Given the description of an element on the screen output the (x, y) to click on. 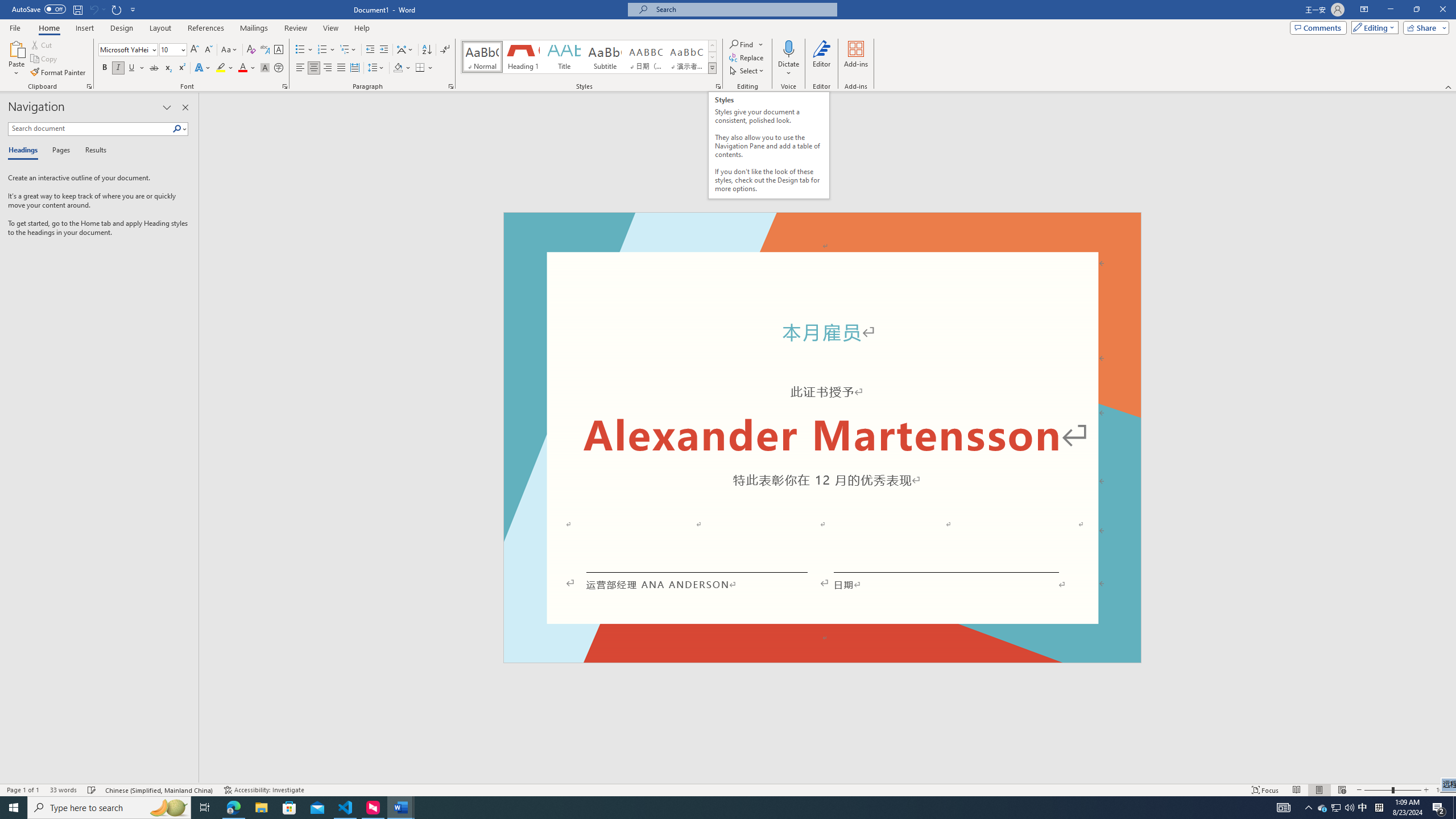
Can't Undo (96, 9)
Repeat Doc Close (117, 9)
Superscript (180, 67)
Multilevel List (347, 49)
Enclose Characters... (278, 67)
Row up (711, 45)
Strikethrough (154, 67)
Heading 1 (522, 56)
